Given the description of an element on the screen output the (x, y) to click on. 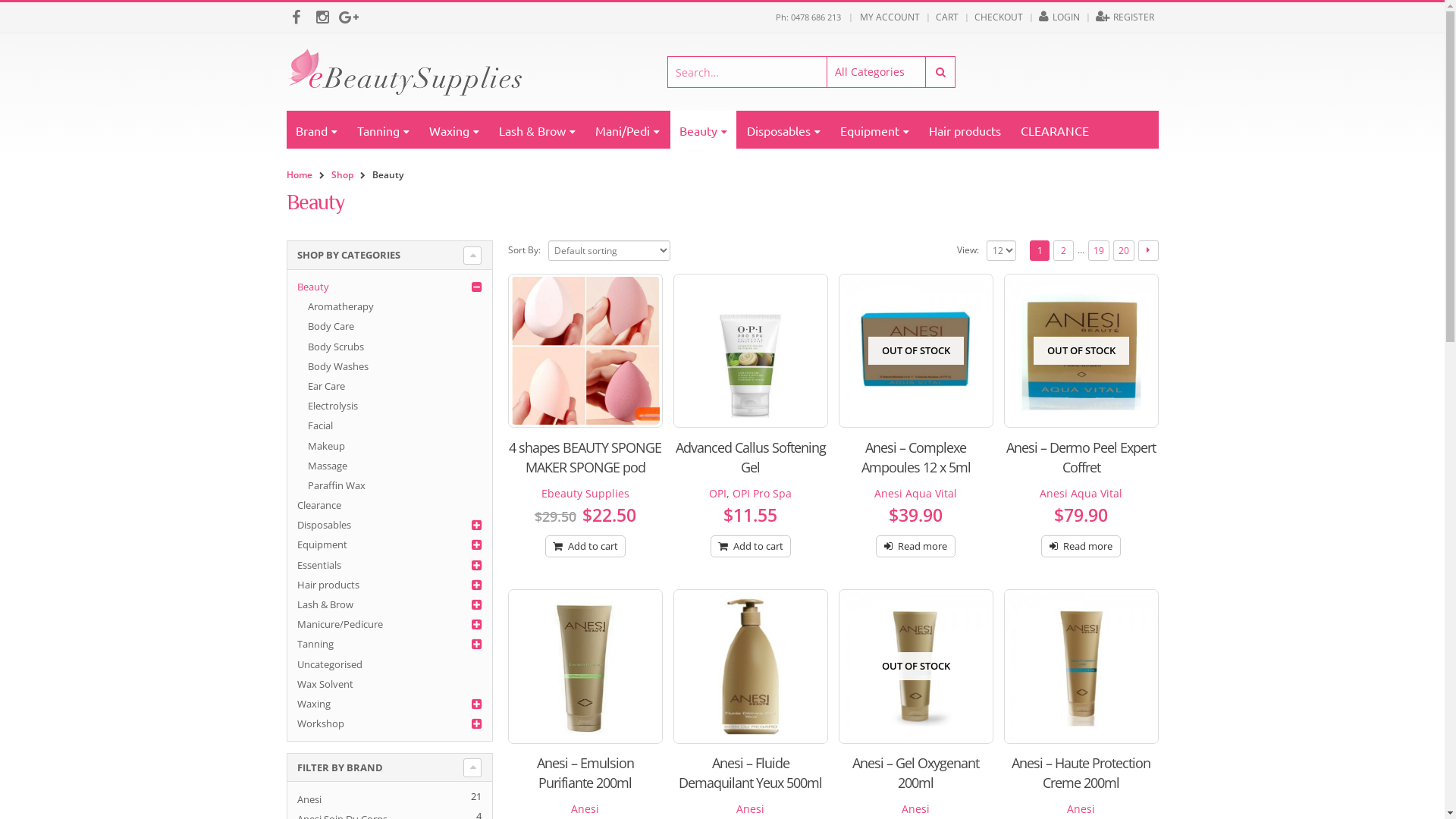
Electrolysis Element type: text (332, 405)
Beauty Element type: text (703, 129)
LOGIN Element type: text (1059, 17)
4 shapes BEAUTY SPONGE MAKER SPONGE pod Element type: text (585, 456)
Equipment Element type: text (322, 544)
Facial Element type: text (319, 425)
Anesi Aqua Vital Element type: text (915, 493)
Waxing Element type: text (454, 129)
Search Element type: hover (940, 71)
OUT OF STOCK Element type: text (915, 666)
Brand Element type: text (316, 129)
Massage Element type: text (327, 465)
Anesi Element type: text (309, 799)
Anesi Element type: text (1080, 808)
Anesi Aqua Vital Element type: text (1080, 493)
Mani/Pedi Element type: text (626, 129)
Beauty Element type: text (313, 286)
OPI Element type: text (717, 493)
Ebeauty Supplies Element type: text (585, 493)
Facebook Element type: hover (295, 17)
19 Element type: text (1098, 250)
CART Element type: text (946, 17)
Shop Element type: text (341, 175)
OPI Pro Spa Element type: text (761, 493)
Anesi Element type: text (750, 808)
Read more Element type: text (1080, 546)
Instagram Element type: hover (322, 17)
OUT OF STOCK Element type: text (1081, 350)
Lash & Brow Element type: text (325, 604)
Aromatherapy Element type: text (340, 306)
Makeup Element type: text (326, 445)
Paraffin Wax Element type: text (336, 485)
Hair products Element type: text (964, 129)
Lash & Brow Element type: text (536, 129)
Hair products Element type: text (328, 584)
2 Element type: text (1063, 250)
Essentials Element type: text (319, 564)
Waxing Element type: text (313, 703)
MY ACCOUNT Element type: text (889, 17)
Read more Element type: text (915, 546)
Google Plus Element type: hover (348, 17)
OUT OF STOCK Element type: text (915, 350)
Equipment Element type: text (874, 129)
Body Care Element type: text (330, 325)
20 Element type: text (1123, 250)
Body Washes Element type: text (337, 366)
CHECKOUT Element type: text (998, 17)
Body Scrubs Element type: text (335, 346)
REGISTER Element type: text (1124, 17)
Home Element type: text (299, 175)
eBeauty Supplies - Your local salon supplier Element type: hover (403, 71)
Clearance Element type: text (319, 504)
Tanning Element type: text (382, 129)
Ear Care Element type: text (326, 385)
Anesi Element type: text (585, 808)
Tanning Element type: text (315, 643)
Anesi Element type: text (915, 808)
Advanced Callus Softening Gel Element type: text (750, 456)
Disposables Element type: text (782, 129)
Manicure/Pedicure Element type: text (339, 623)
CLEARANCE Element type: text (1054, 129)
Workshop Element type: text (320, 723)
Disposables Element type: text (324, 524)
Uncategorised Element type: text (329, 664)
Wax Solvent Element type: text (325, 683)
